Given the description of an element on the screen output the (x, y) to click on. 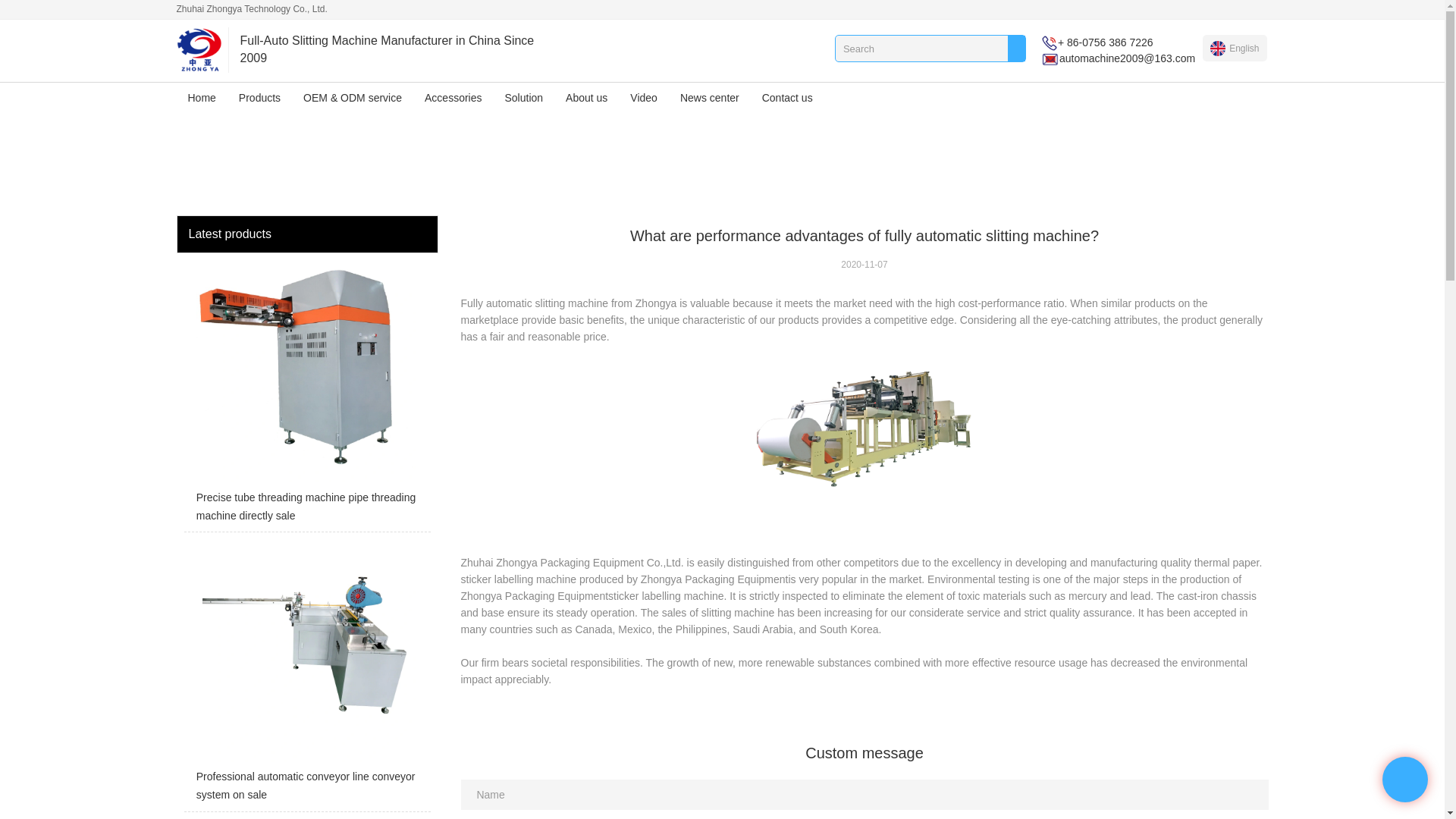
Solution (523, 97)
News center (709, 97)
Professional automatic conveyor line conveyor system on sale (306, 675)
Products (259, 97)
Home (201, 97)
About us (586, 97)
English (1234, 47)
Contact us (787, 97)
Accessories (453, 97)
Video (643, 97)
